Given the description of an element on the screen output the (x, y) to click on. 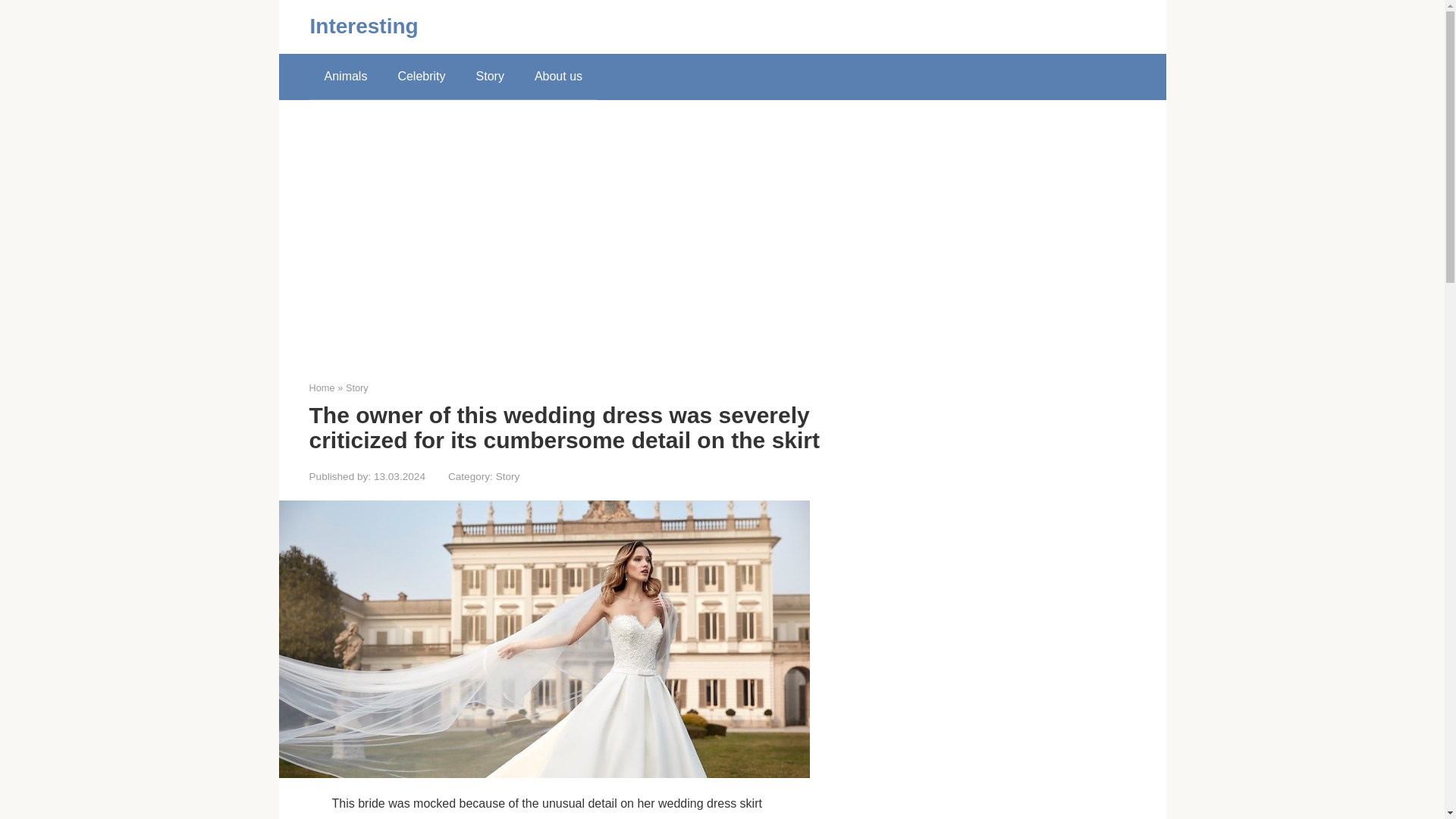
Celebrity (420, 76)
Animals (345, 76)
Story (490, 76)
Home (321, 387)
Story (357, 387)
Interesting (362, 25)
Story (507, 476)
About us (557, 76)
